Given the description of an element on the screen output the (x, y) to click on. 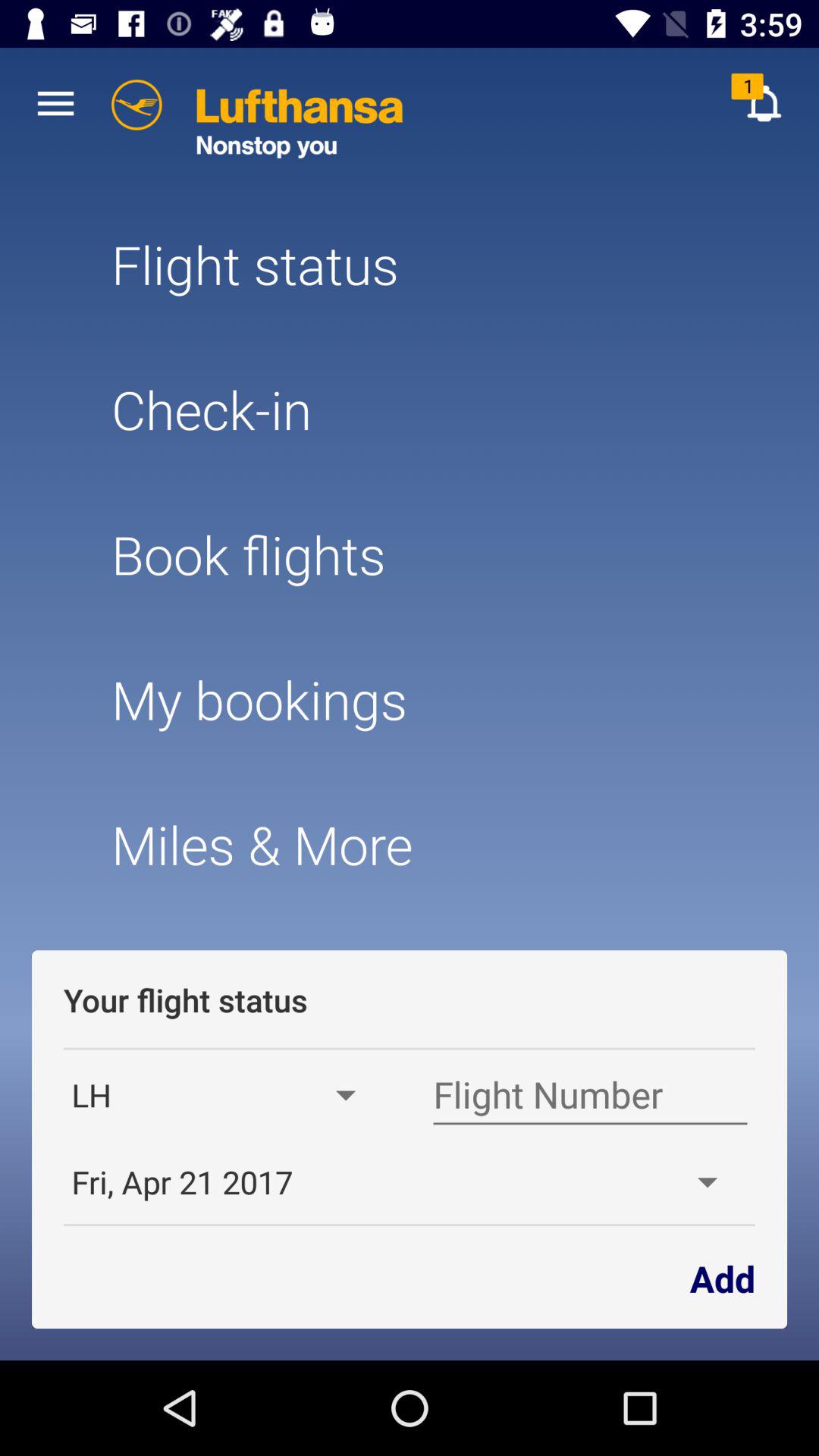
tap the item above the flight status (763, 103)
